Given the description of an element on the screen output the (x, y) to click on. 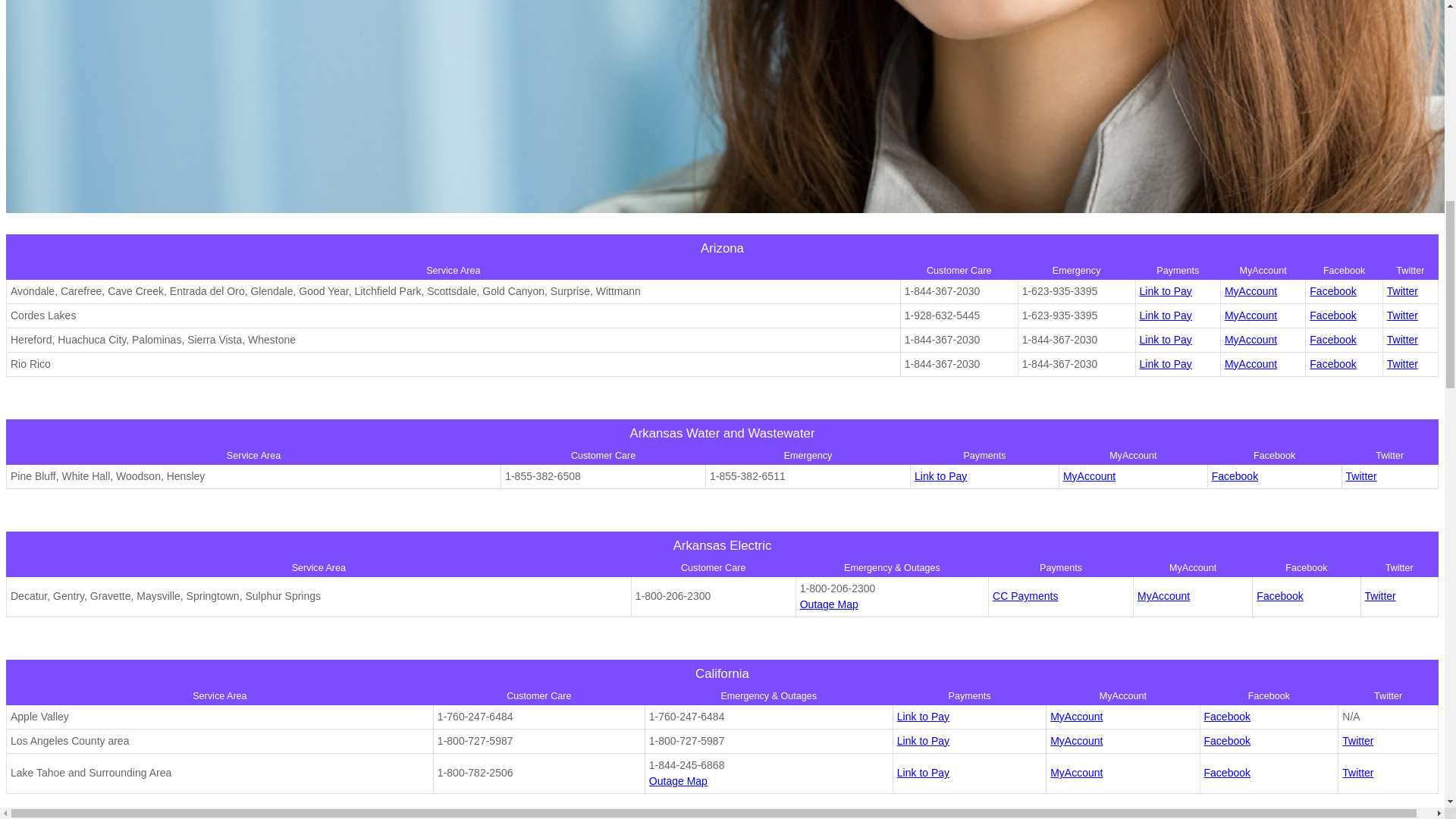
Link to Pay (922, 740)
MyAccount (1088, 476)
Twitter (1380, 595)
Link to Pay (940, 476)
Link to Pay (922, 772)
Facebook (1331, 339)
Facebook (1227, 740)
MyAccount (1075, 716)
CC Payments (1025, 595)
Twitter (1357, 772)
